Given the description of an element on the screen output the (x, y) to click on. 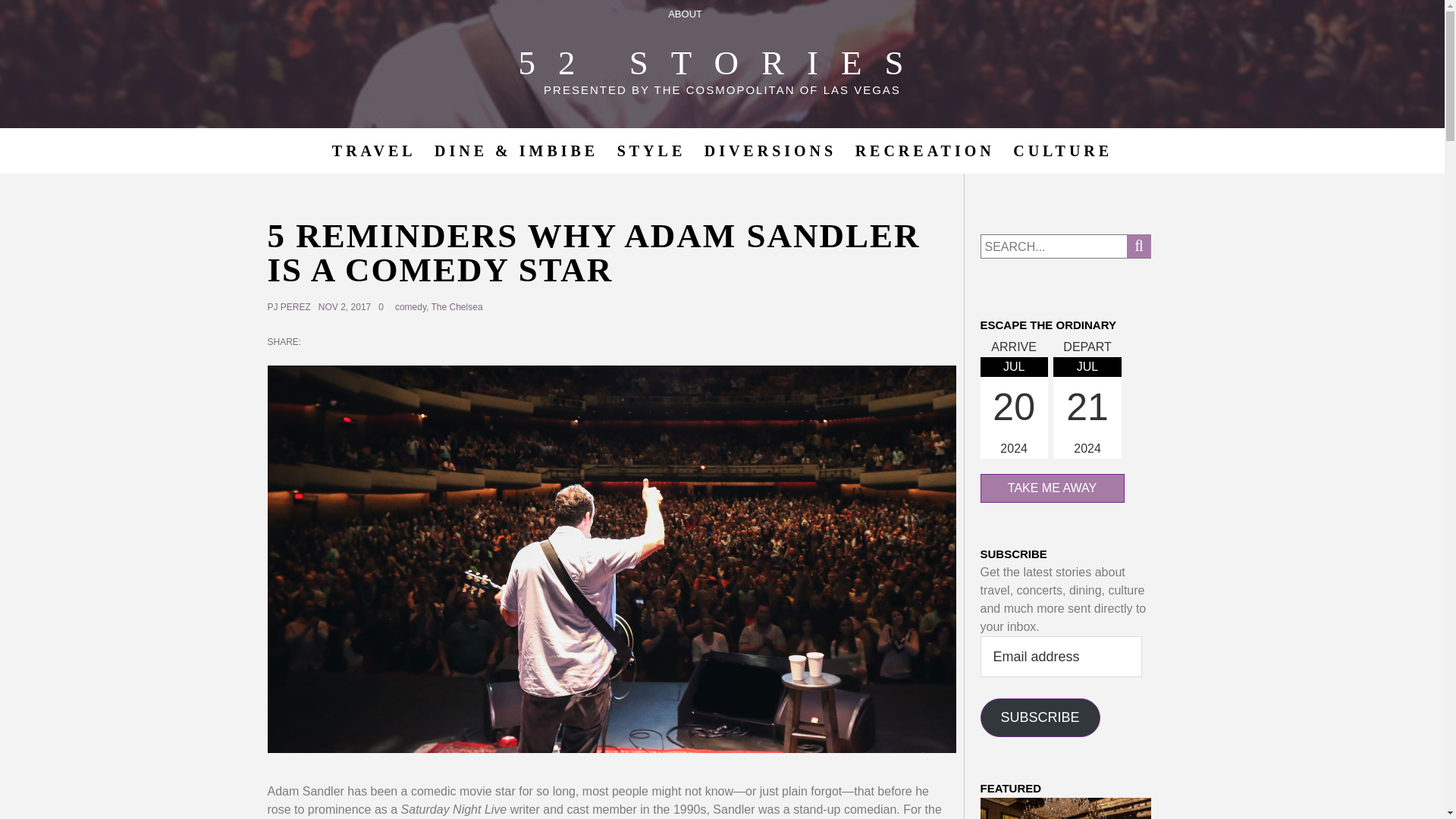
CULTURE (1062, 150)
STYLE (652, 150)
RECREATION (925, 150)
TRAVEL (373, 150)
ABOUT (685, 13)
DIVERSIONS (770, 150)
52 STORIES (722, 62)
